Given the description of an element on the screen output the (x, y) to click on. 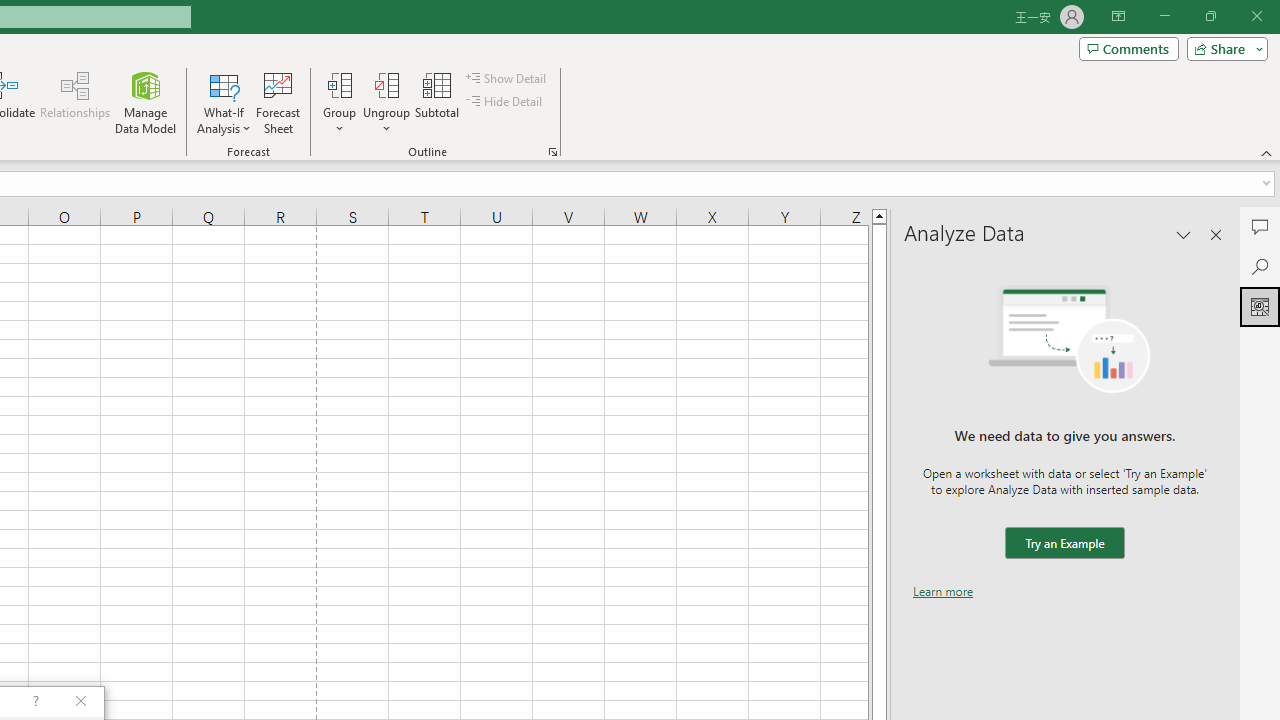
Group and Outline Settings (552, 151)
Close pane (1215, 234)
Search (1260, 266)
We need data to give you answers. Try an Example (1064, 543)
Learn more (943, 591)
Group... (339, 84)
Hide Detail (505, 101)
Subtotal (437, 102)
Relationships (75, 102)
Forecast Sheet (278, 102)
Analyze Data (1260, 306)
What-If Analysis (223, 102)
